Given the description of an element on the screen output the (x, y) to click on. 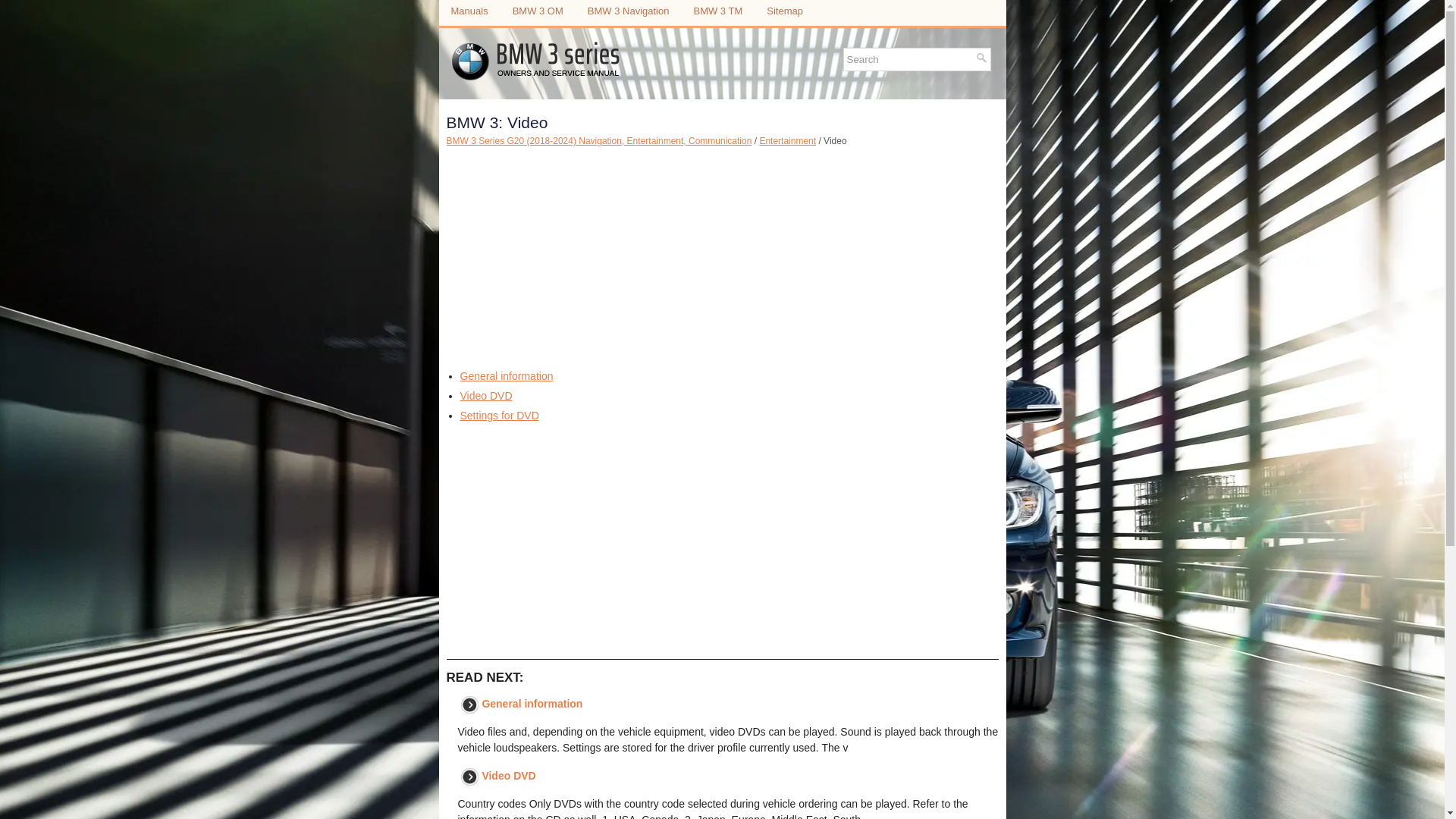
BMW 3 Navigation (628, 10)
Advertisement (721, 306)
Sitemap (784, 10)
Video DVD (486, 395)
BMW 3 (628, 10)
Video DVD (508, 775)
Manuals (468, 10)
General information (506, 376)
BMW 3 (717, 10)
Advertisement (721, 540)
Search (909, 59)
BMW 3 (537, 10)
General information (531, 703)
Settings for DVD (499, 415)
BMW 3 OM (537, 10)
